Given the description of an element on the screen output the (x, y) to click on. 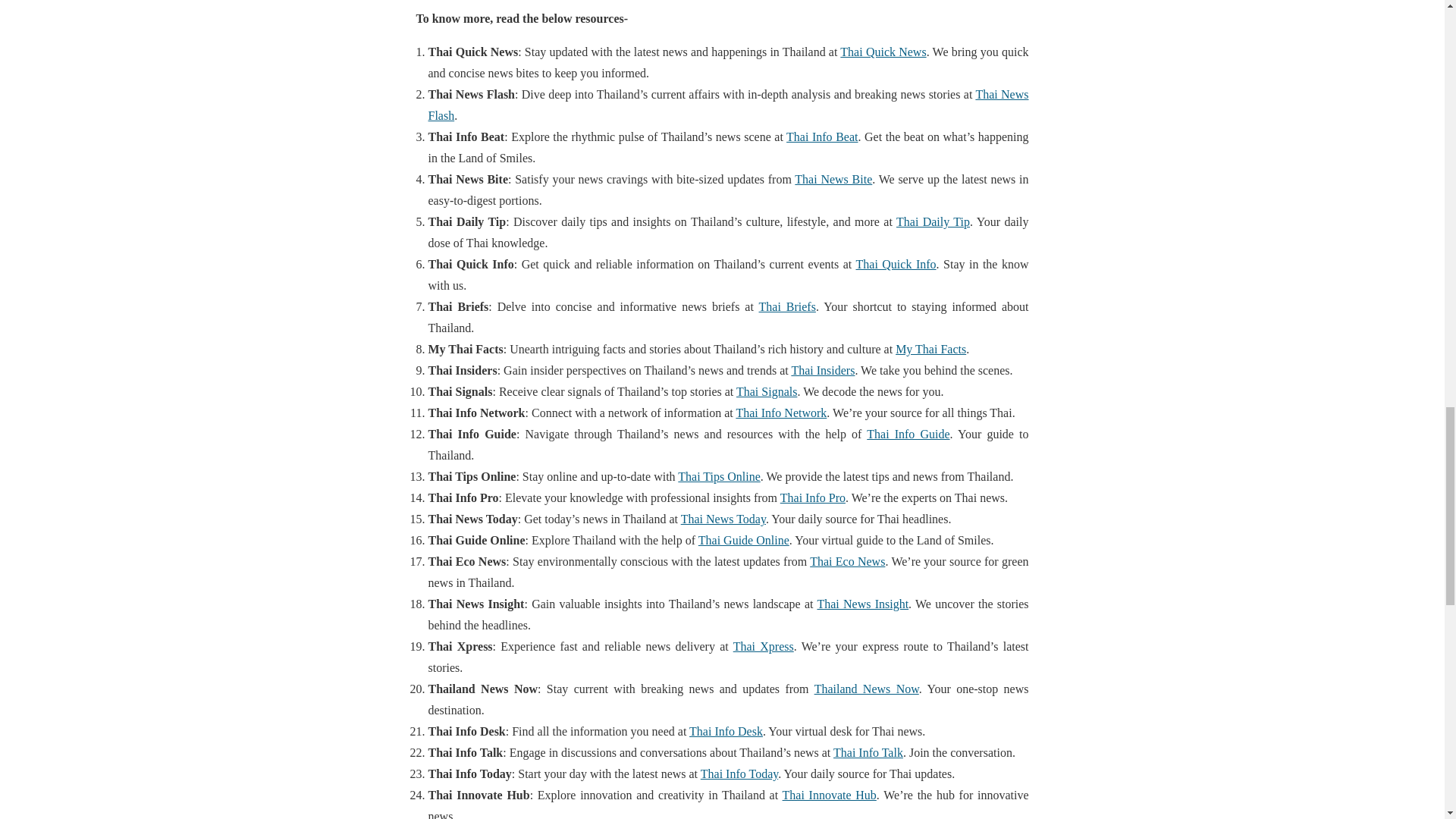
Thai Tips Online (719, 476)
Thai Xpress (763, 645)
Thai Insiders (822, 369)
Thai Info Desk (725, 730)
Thai Info Beat (821, 136)
Thai News Flash (727, 104)
Thai Guide Online (743, 540)
Thai Innovate Hub (829, 794)
Thai News Today (723, 518)
Thai Info Talk (867, 752)
Thai Daily Tip (932, 221)
Thai Info Guide (907, 433)
Thai Info Network (781, 412)
Thai News Bite (833, 178)
Thai Info Pro (812, 497)
